Given the description of an element on the screen output the (x, y) to click on. 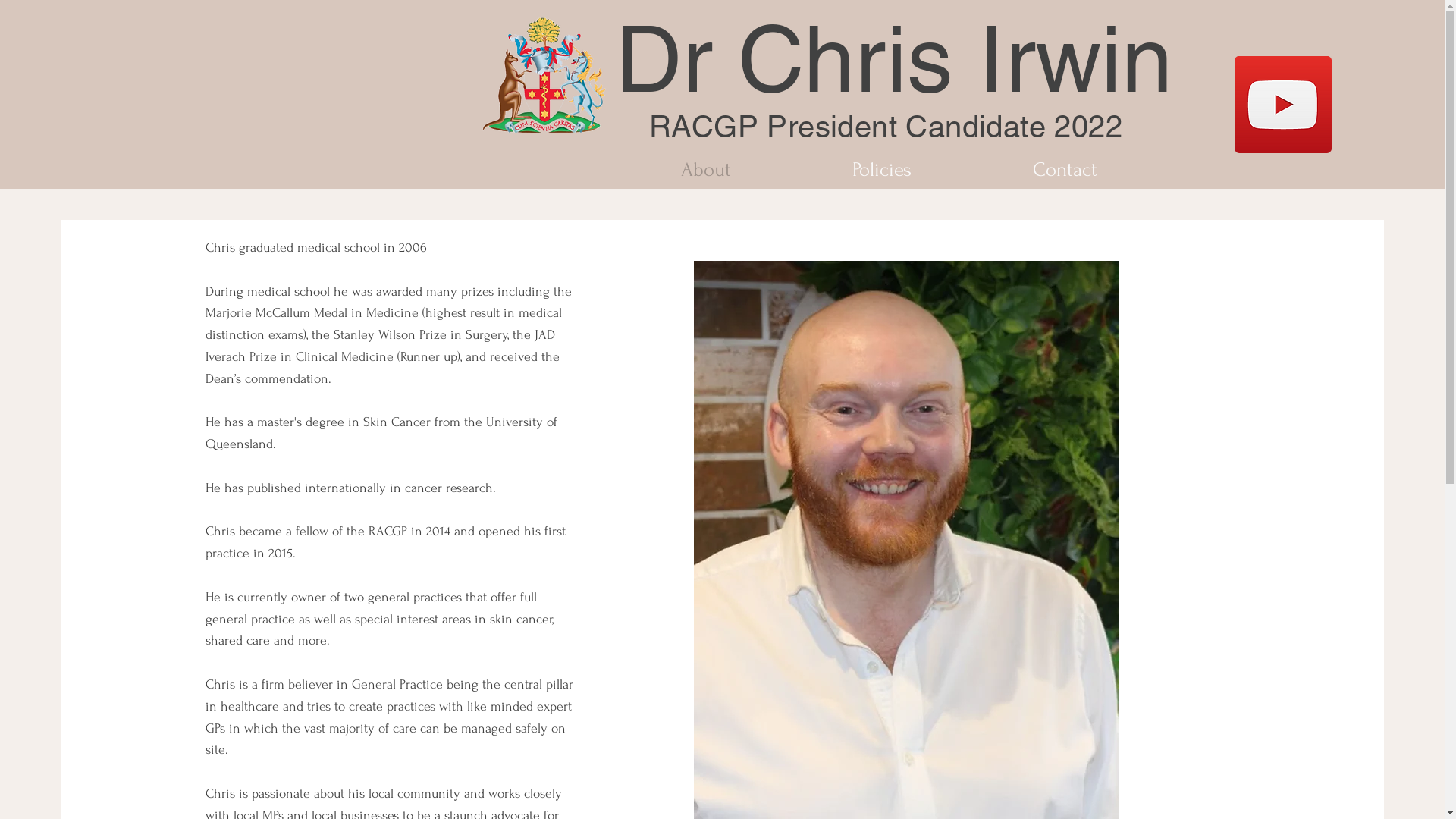
Contact Element type: text (1064, 169)
About Element type: text (705, 169)
Policies Element type: text (881, 169)
